Given the description of an element on the screen output the (x, y) to click on. 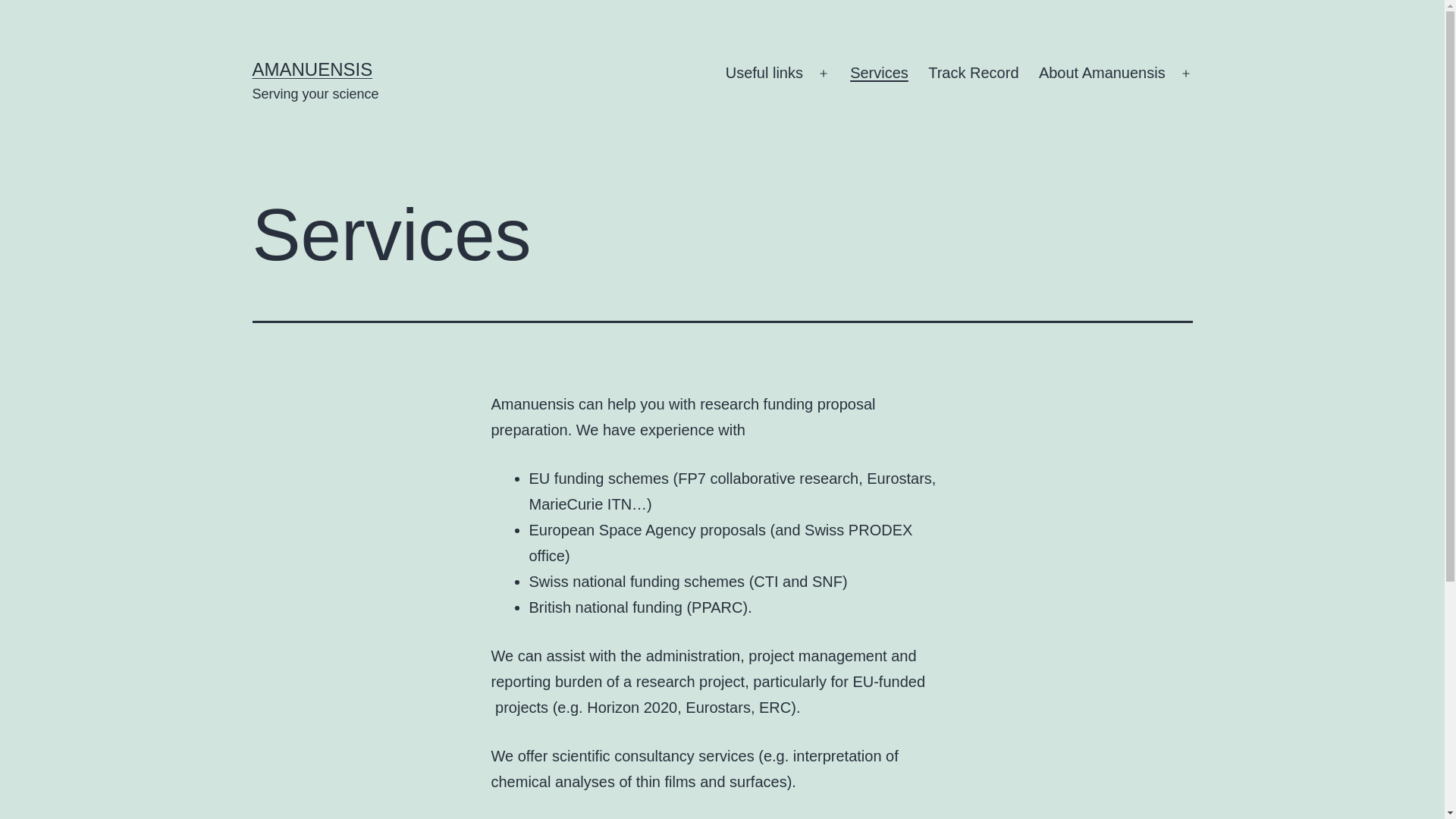
About Amanuensis Element type: text (1102, 73)
Services Element type: text (879, 73)
Useful links Element type: text (764, 73)
Open menu Element type: text (1185, 73)
AMANUENSIS Element type: text (311, 69)
Track Record Element type: text (973, 73)
Open menu Element type: text (823, 73)
